Given the description of an element on the screen output the (x, y) to click on. 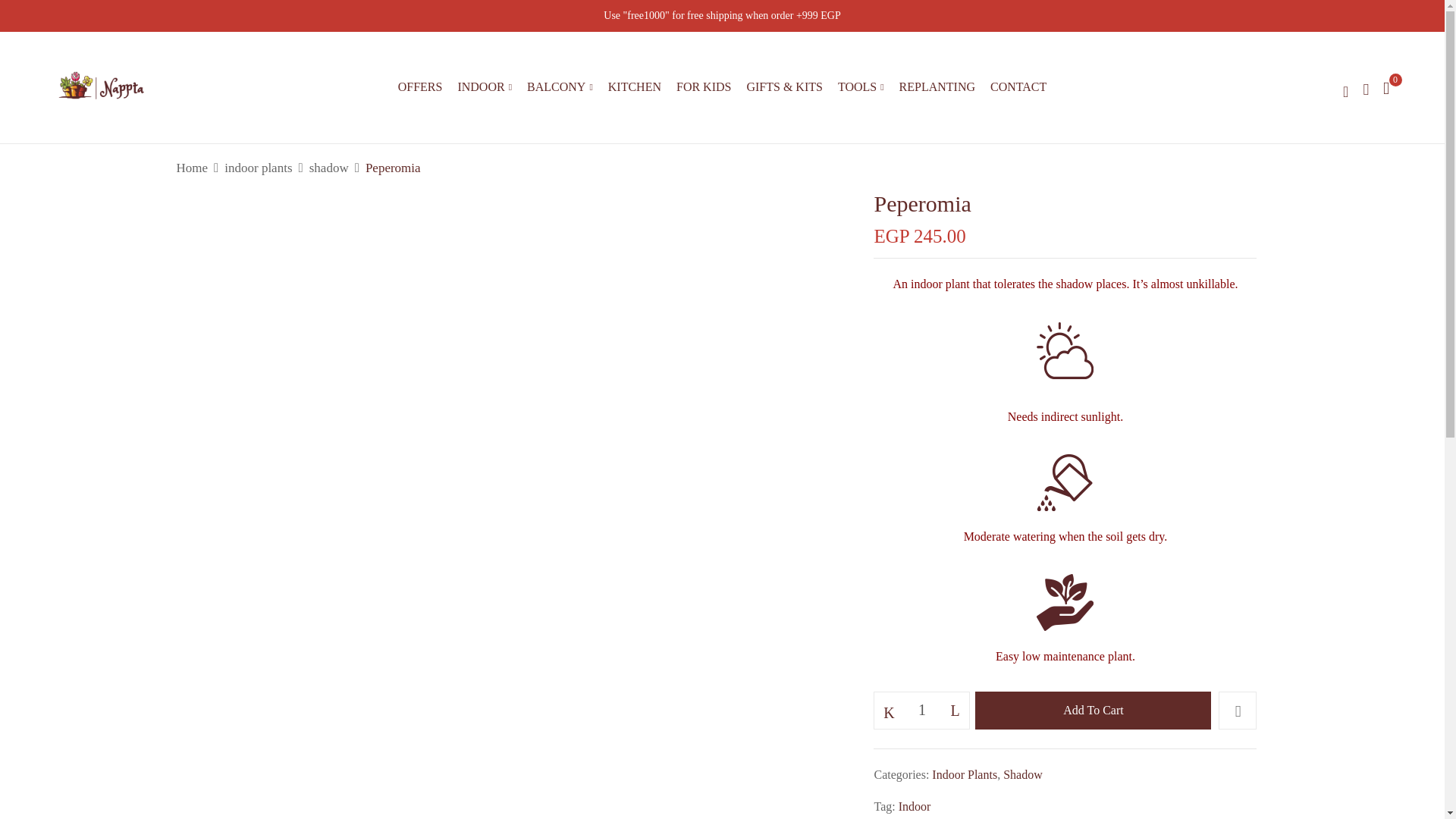
OFFERS (419, 86)
1 (922, 709)
INDOOR (484, 87)
